Given the description of an element on the screen output the (x, y) to click on. 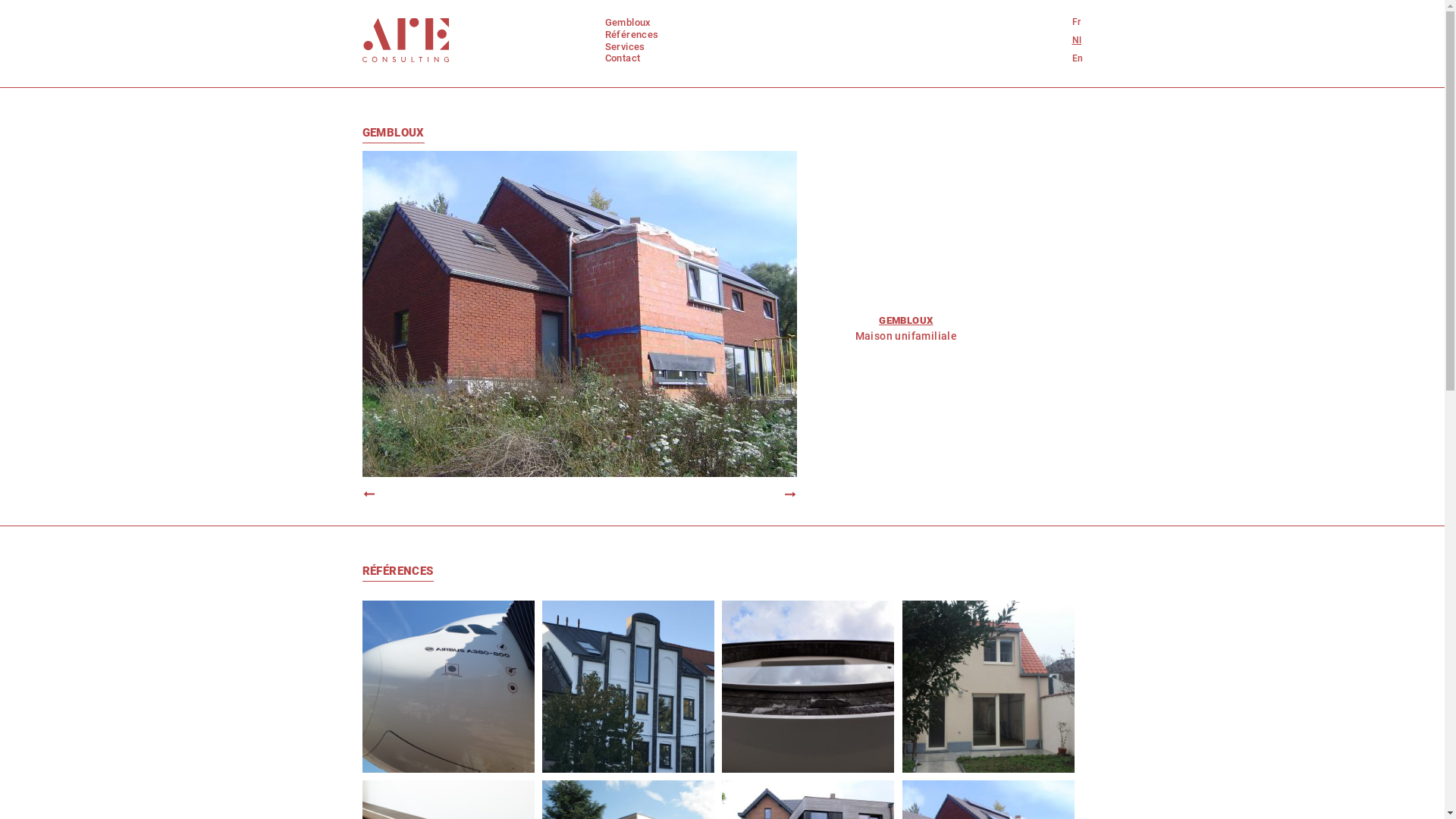
En Element type: text (1077, 58)
Overslaan en naar de inhoud gaan Element type: text (87, 87)
GEMBLOUX Element type: text (393, 134)
Fr Element type: text (1076, 21)
Contact Element type: text (622, 57)
Nl Element type: text (1077, 39)
Next Element type: text (783, 493)
gembloux Element type: text (628, 21)
Previous Element type: text (375, 493)
Services Element type: text (625, 46)
